Given the description of an element on the screen output the (x, y) to click on. 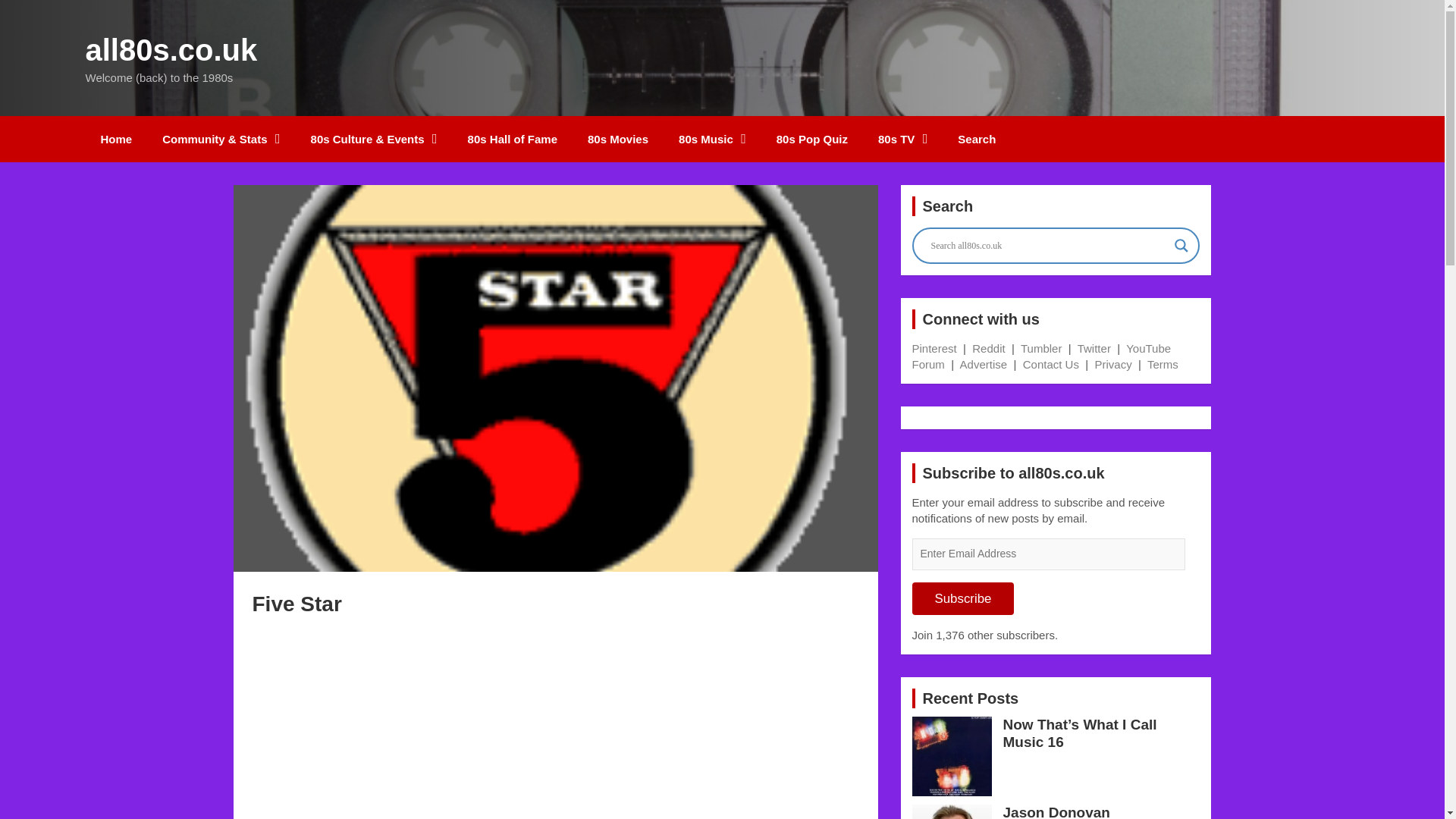
80s Pop Quiz (812, 139)
Search (976, 139)
80s Music (712, 139)
all80s.co.uk (170, 49)
80s TV (902, 139)
80s Movies (617, 139)
Advertisement (554, 719)
Home (115, 139)
80s Hall of Fame (512, 139)
